Given the description of an element on the screen output the (x, y) to click on. 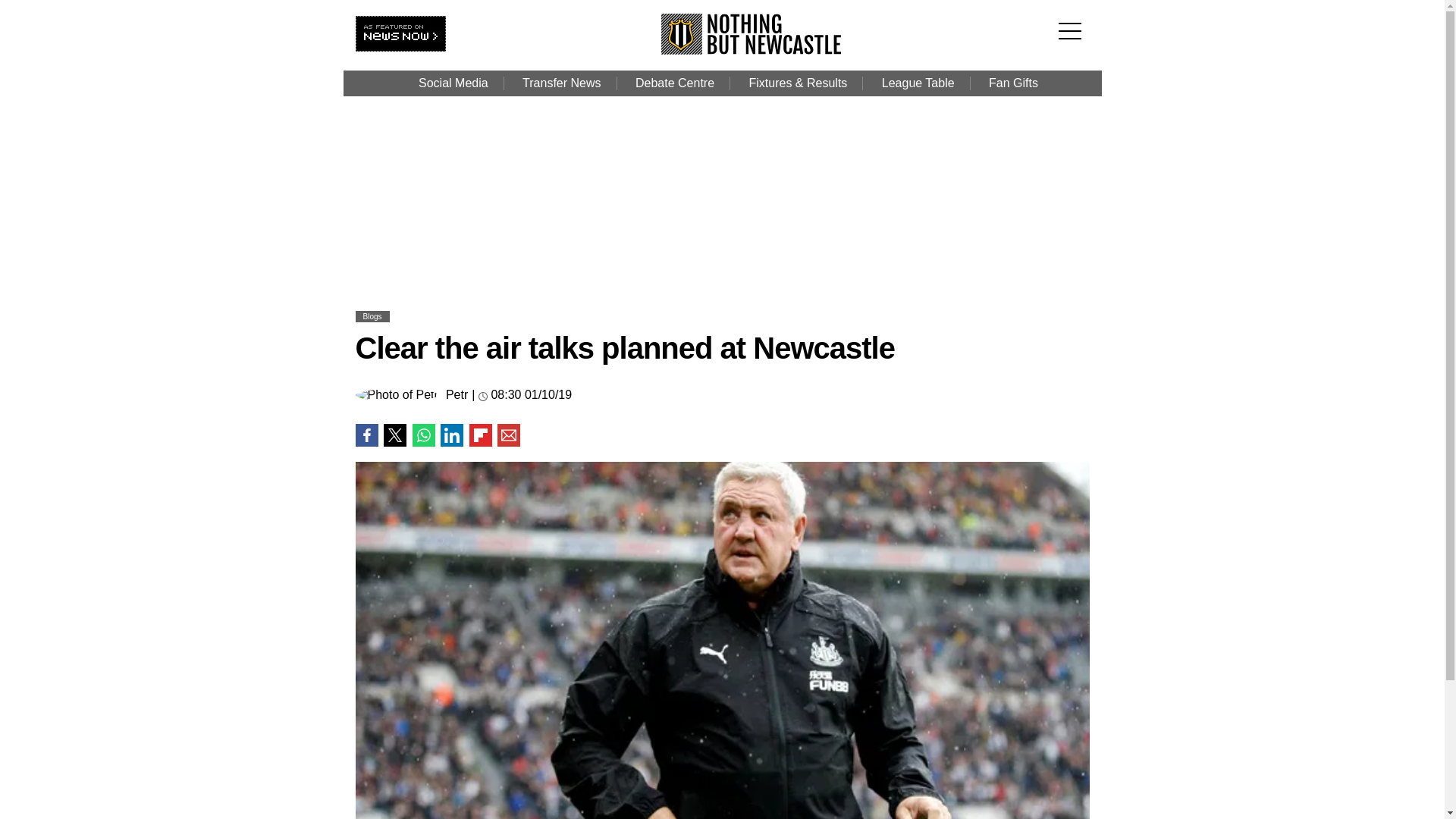
share on LinkedIn (452, 435)
Debate Centre (674, 83)
share on WhatsApp (423, 435)
Petr (456, 395)
Social Media (453, 83)
Blogs (371, 316)
Transfer News (560, 83)
share on Twitter (395, 435)
Menu (1074, 21)
share on Email (508, 435)
Fan Gifts (1013, 83)
League Table (917, 83)
Back to the homepage (752, 50)
share on Facebook (366, 435)
share on Flipboard (480, 435)
